Given the description of an element on the screen output the (x, y) to click on. 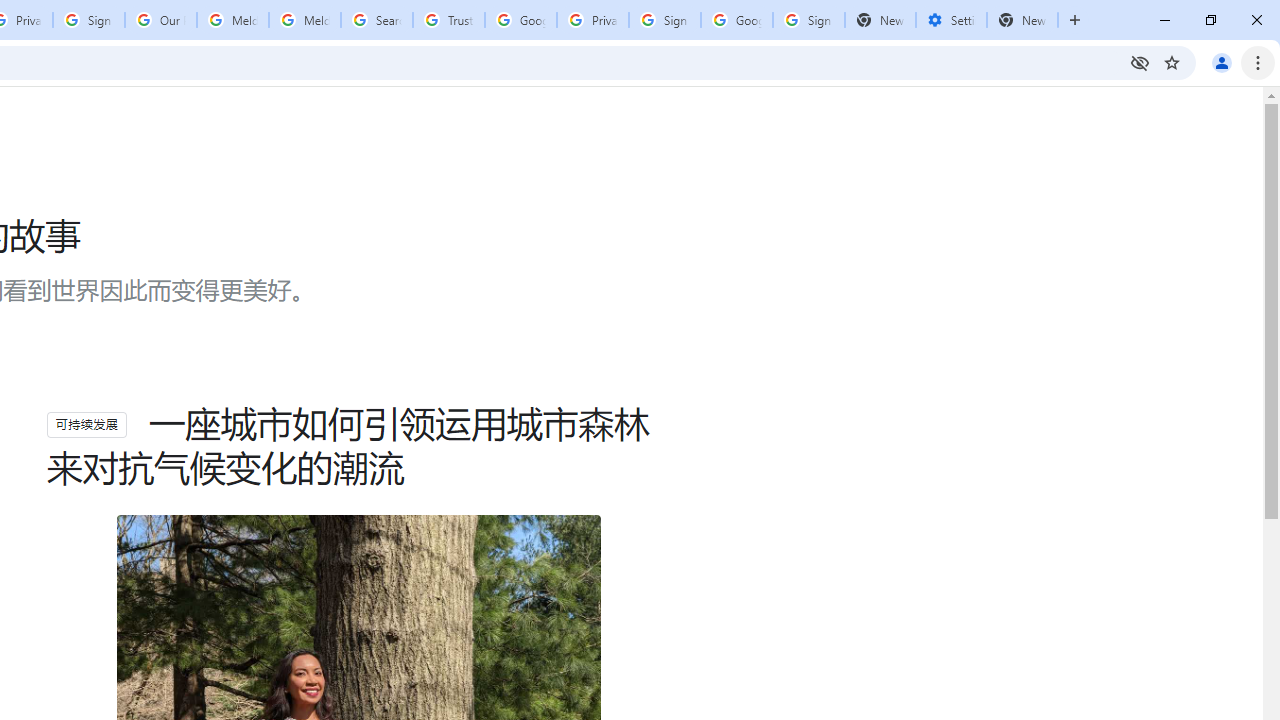
Sign in - Google Accounts (88, 20)
Trusted Information and Content - Google Safety Center (449, 20)
Google Ads - Sign in (520, 20)
Settings - Addresses and more (951, 20)
Google Cybersecurity Innovations - Google Safety Center (737, 20)
Sign in - Google Accounts (664, 20)
Search our Doodle Library Collection - Google Doodles (376, 20)
